Given the description of an element on the screen output the (x, y) to click on. 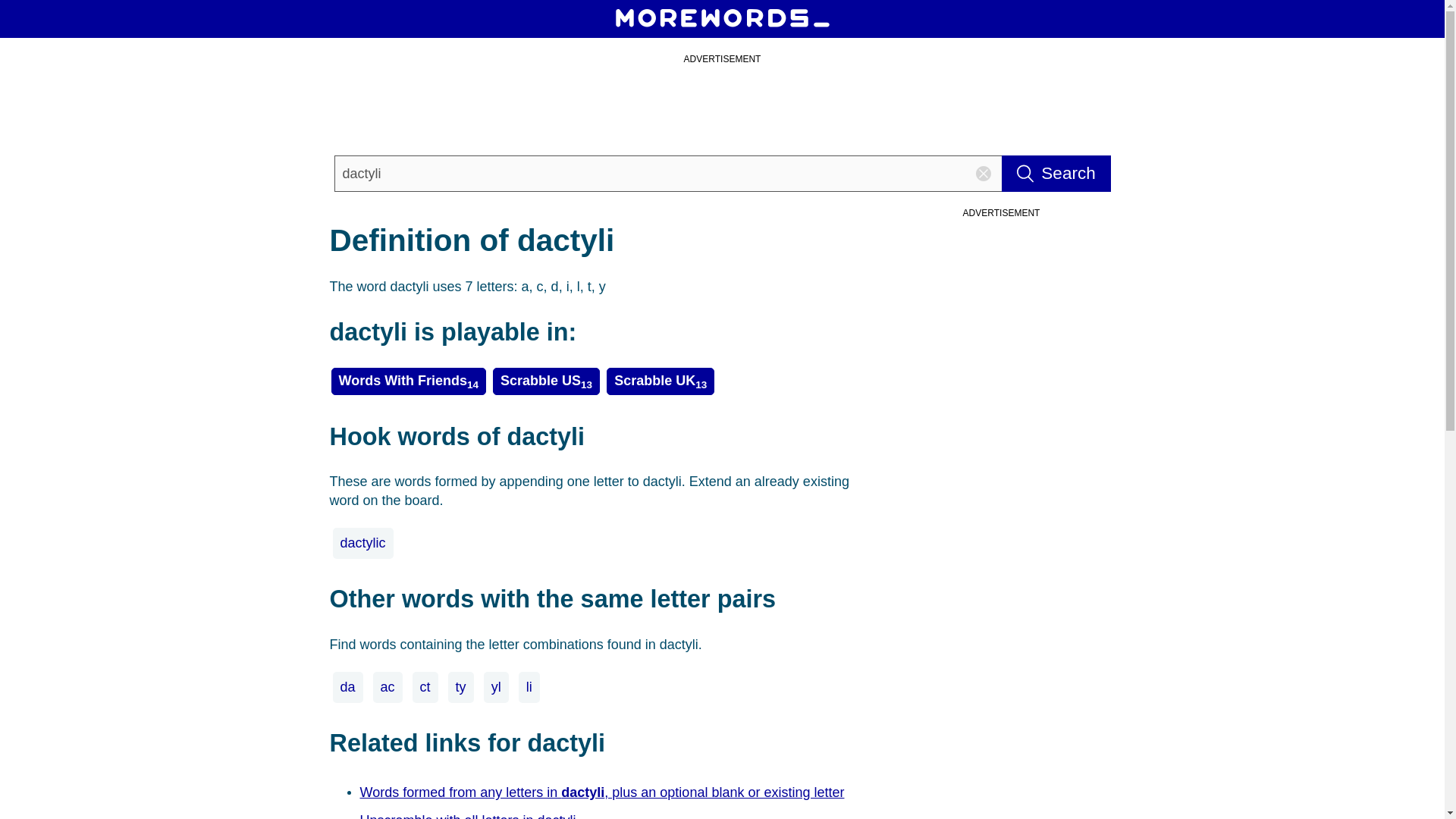
dactyli (667, 173)
All words formed with da (346, 686)
Unscramble with all letters in dactyli (469, 812)
All words formed with ac (387, 686)
Search (1055, 173)
Reset search query (982, 173)
dactylic (362, 542)
da (346, 686)
dactyli (667, 173)
More Words Homepage (722, 18)
ac (387, 686)
See definitions of dactylic (362, 542)
